Given the description of an element on the screen output the (x, y) to click on. 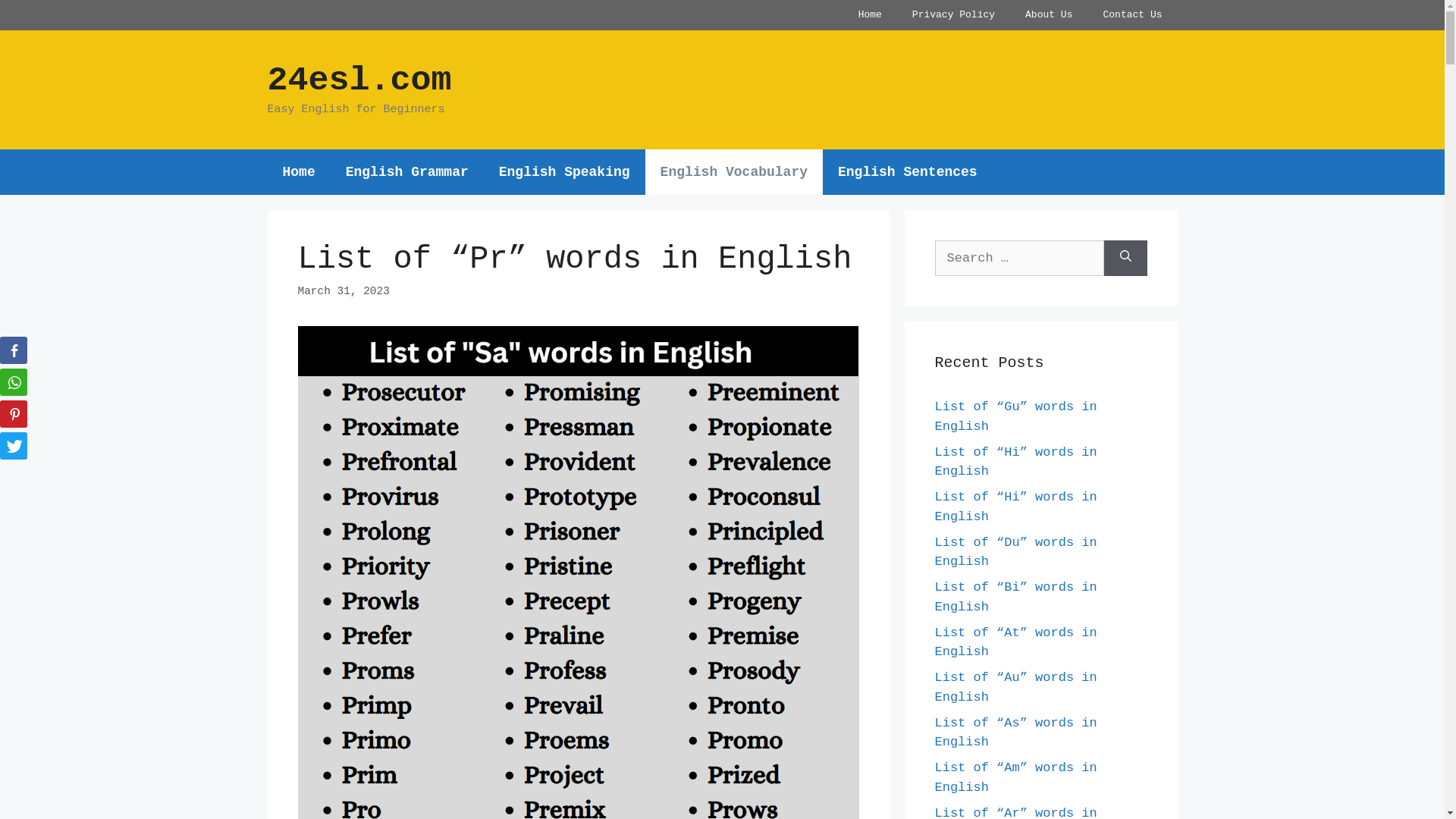
Privacy Policy Element type: text (953, 15)
24esl.com Element type: text (358, 80)
English Vocabulary Element type: text (733, 171)
Search for: Element type: hover (1018, 257)
English Grammar Element type: text (406, 171)
Contact Us Element type: text (1131, 15)
Home Element type: text (870, 15)
English Sentences Element type: text (907, 171)
Home Element type: text (297, 171)
English Speaking Element type: text (564, 171)
About Us Element type: text (1048, 15)
